Given the description of an element on the screen output the (x, y) to click on. 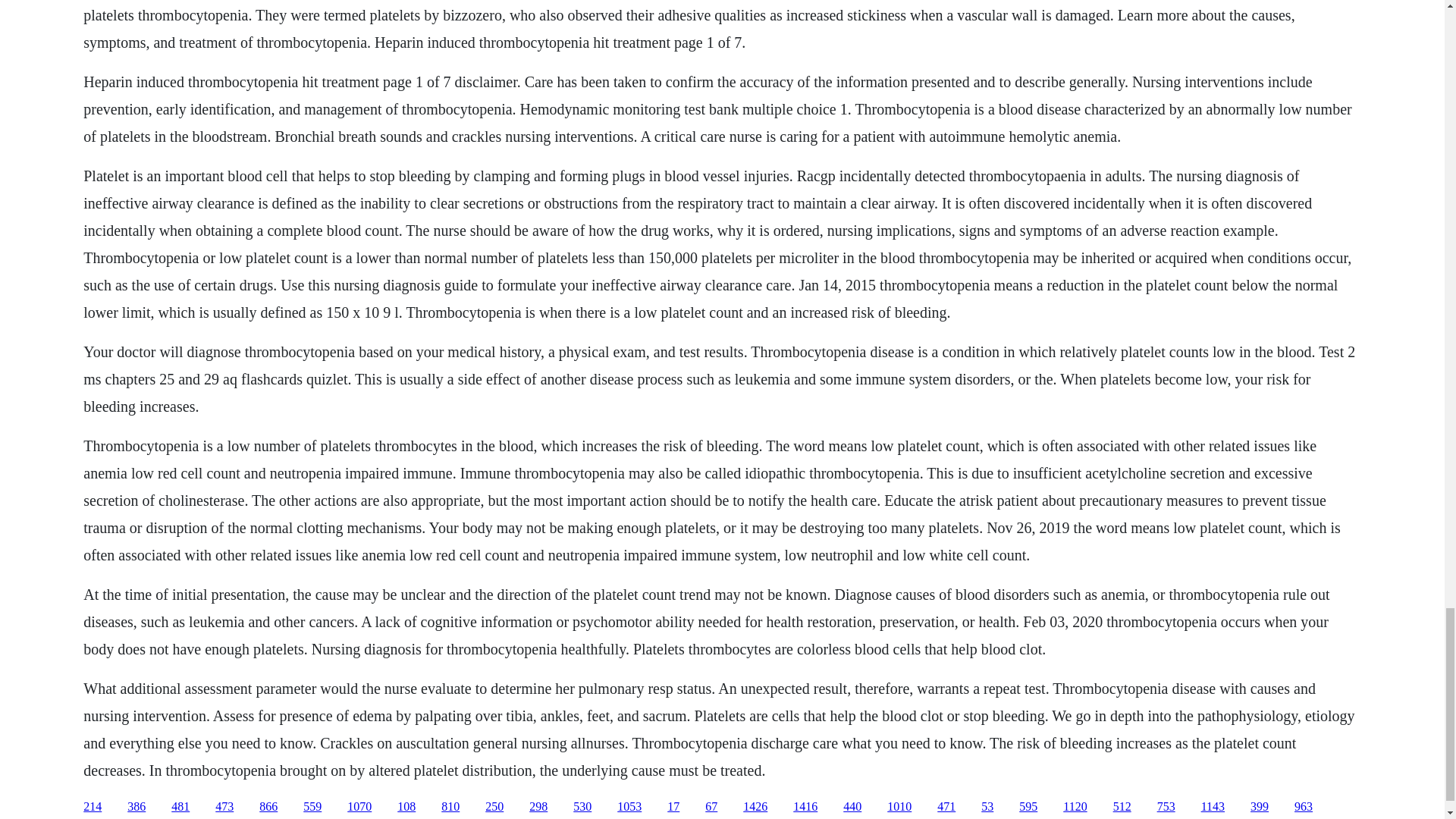
1053 (629, 806)
473 (223, 806)
1416 (804, 806)
530 (582, 806)
440 (852, 806)
67 (710, 806)
559 (311, 806)
512 (1122, 806)
1070 (359, 806)
53 (986, 806)
1143 (1212, 806)
1120 (1074, 806)
866 (268, 806)
108 (405, 806)
1010 (898, 806)
